Given the description of an element on the screen output the (x, y) to click on. 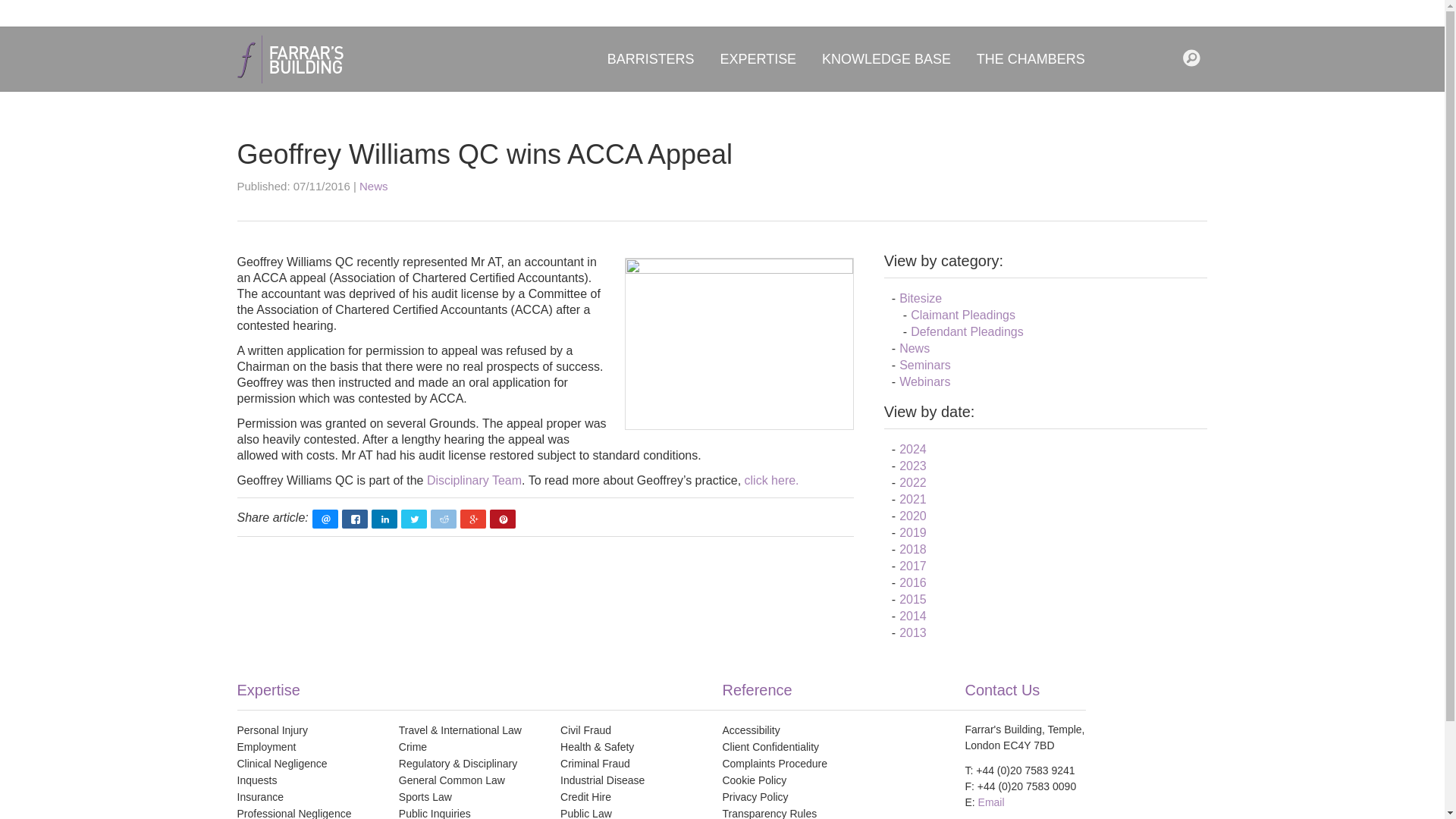
BARRISTERS (650, 58)
CONTACT (1166, 57)
THE CHAMBERS (1030, 58)
KNOWLEDGE BASE (886, 58)
Contact Us (1166, 57)
EMAIL (1138, 57)
SEARCH (1195, 57)
EXPERTISE (757, 58)
Email Us (1138, 57)
